Given the description of an element on the screen output the (x, y) to click on. 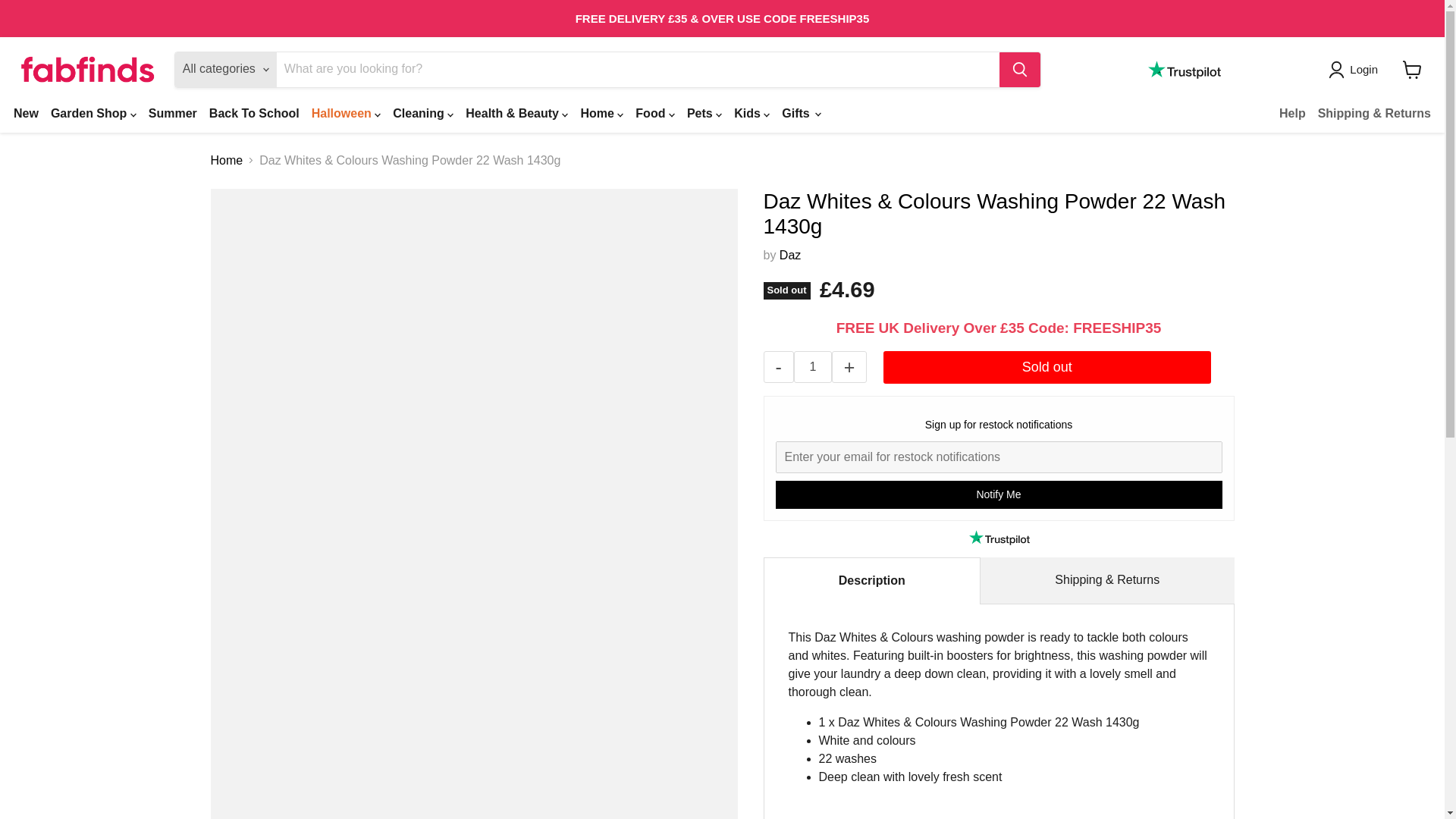
Customer reviews powered by Trustpilot (1184, 69)
Customer reviews powered by Trustpilot (997, 536)
Summer (172, 112)
New (26, 112)
1 (812, 367)
Login (1363, 69)
Daz (789, 254)
View cart (1411, 69)
Back To School (254, 112)
